Given the description of an element on the screen output the (x, y) to click on. 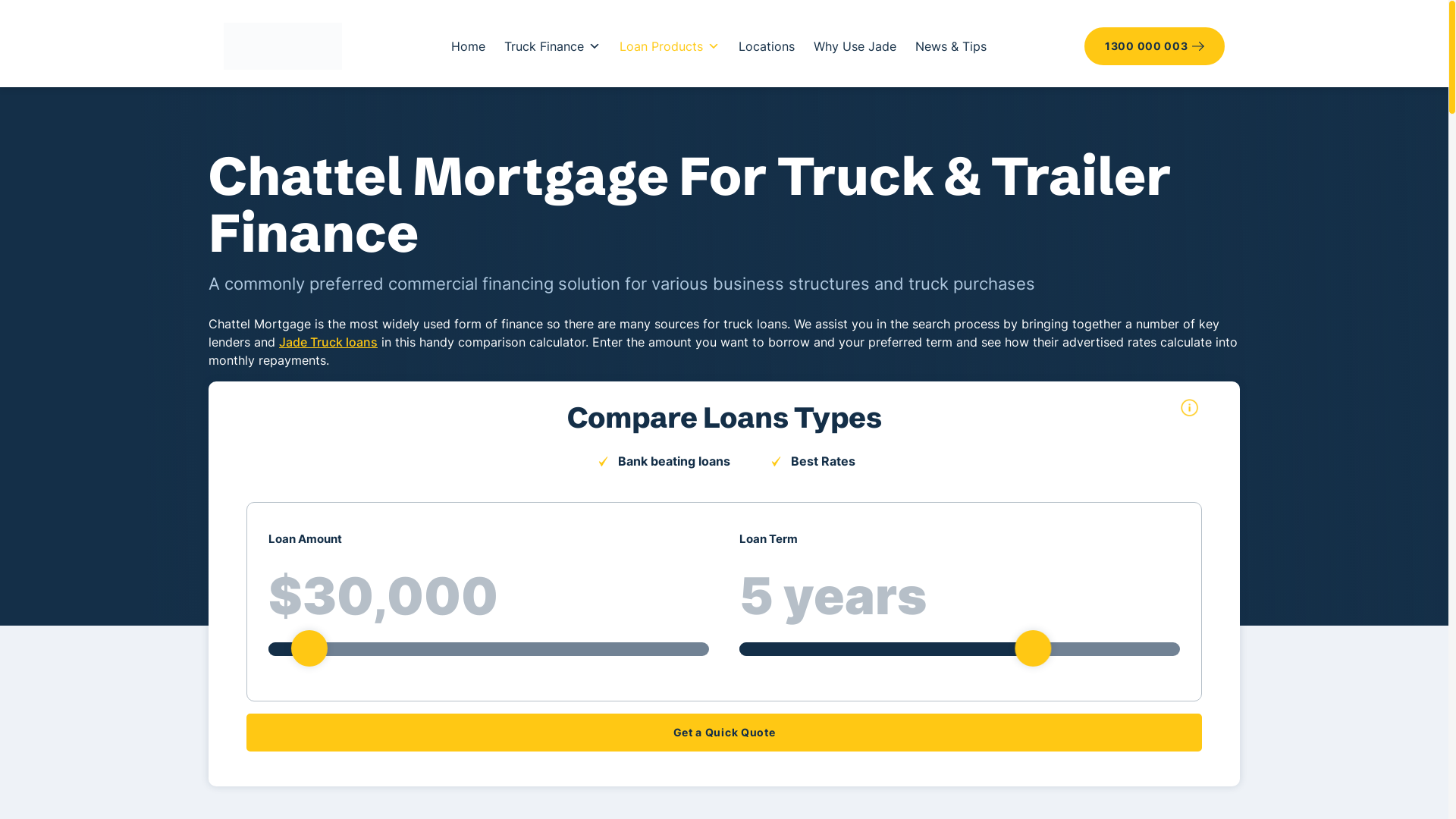
Home Element type: text (468, 45)
Next Element type: text (749, 520)
Next Element type: text (58, 18)
Previous Element type: text (265, 520)
1300 000 003 Element type: text (1154, 46)
Loan Products Element type: text (669, 45)
Why Use Jade Element type: text (854, 45)
Get a Quick Quote Element type: text (723, 732)
News & Tips Element type: text (950, 45)
Locations Element type: text (765, 45)
Truck Finance Element type: text (552, 45)
Jade Truck loans Element type: text (328, 341)
